Given the description of an element on the screen output the (x, y) to click on. 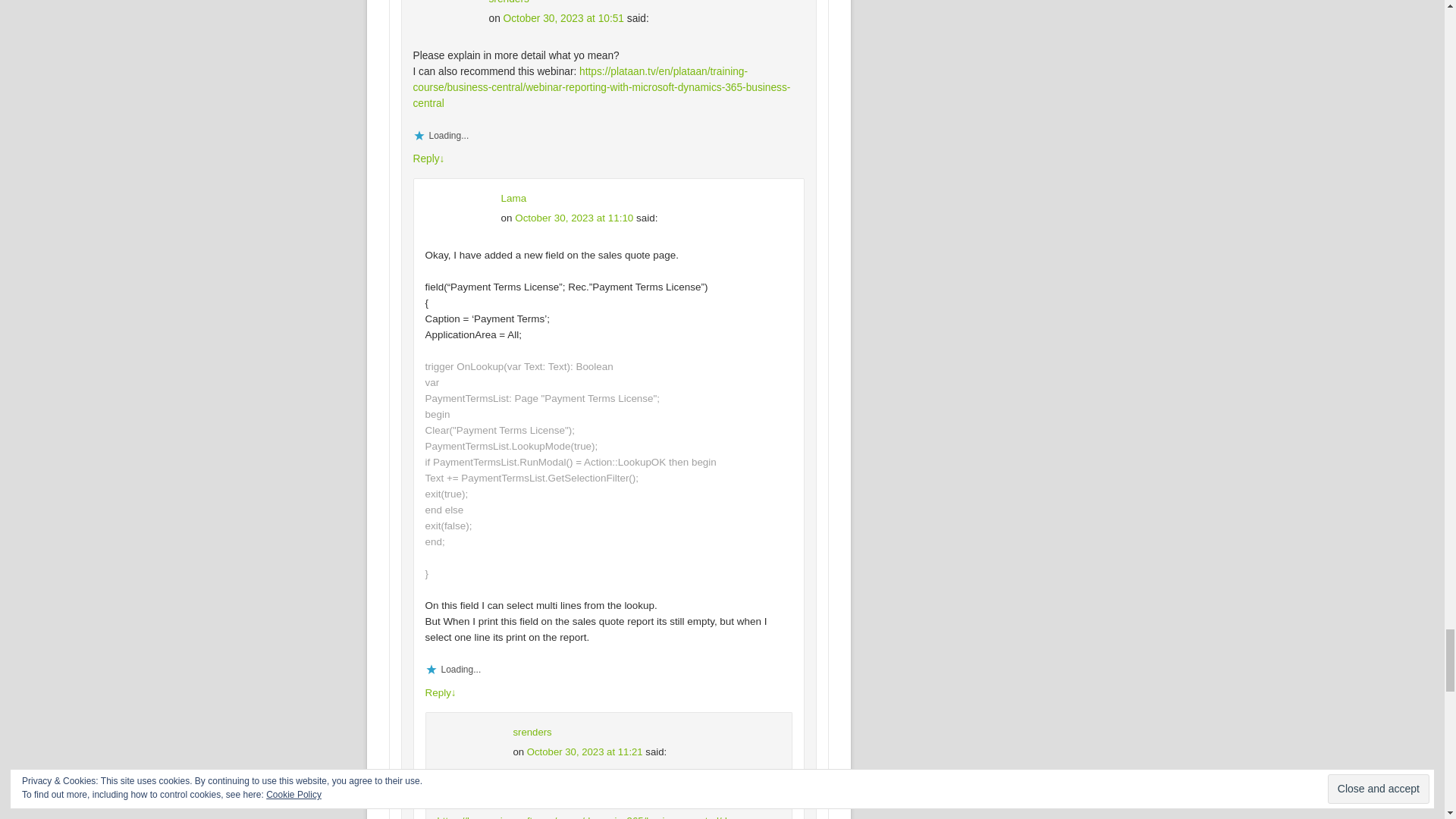
Lama (512, 197)
srenders (507, 2)
October 30, 2023 at 10:51 (563, 18)
